Given the description of an element on the screen output the (x, y) to click on. 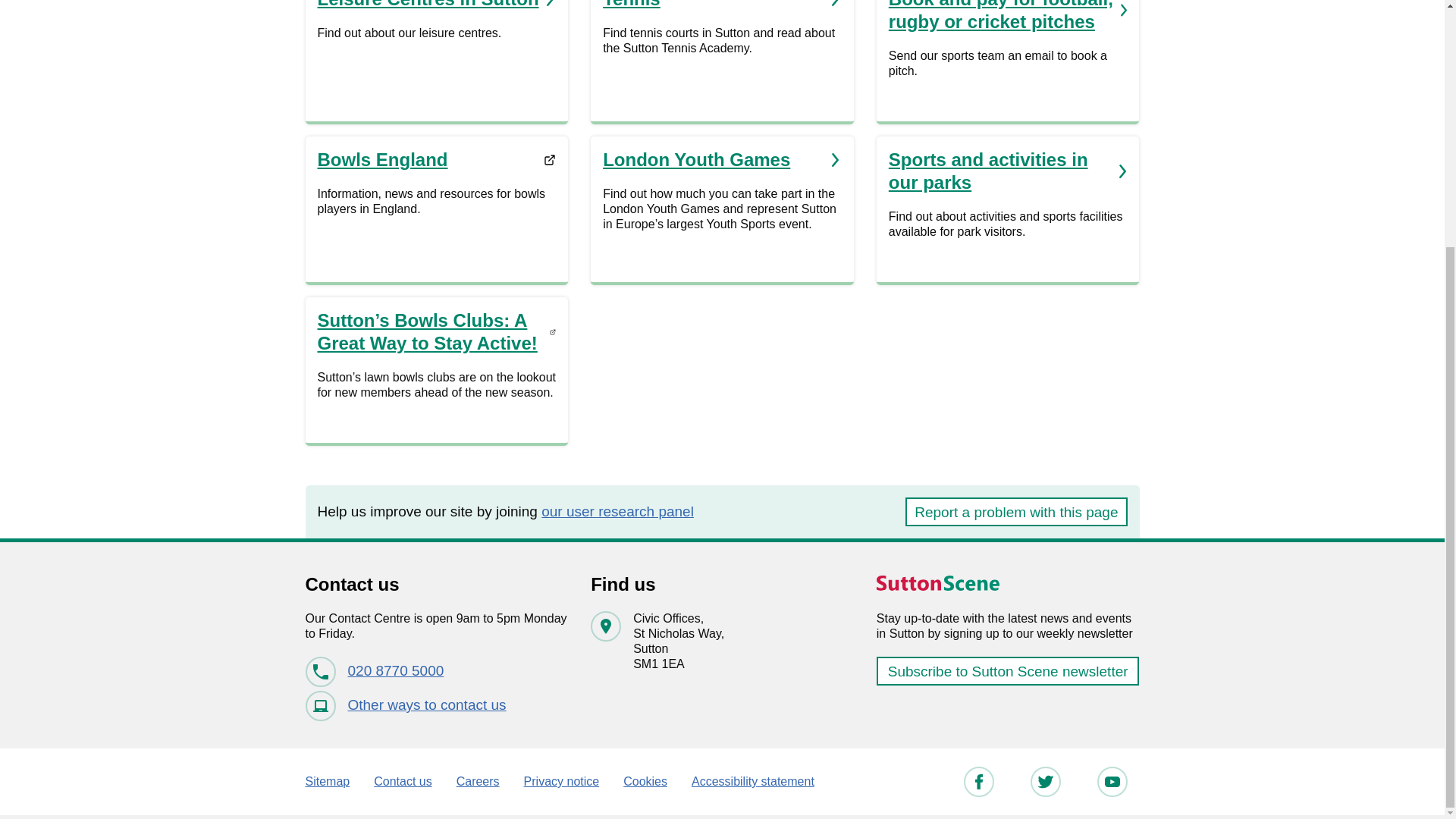
Location pin icon (605, 626)
London Youth Games (721, 159)
Facebook logo (978, 781)
Report a problem with this page (1015, 511)
Book and pay for football, rugby or cricket pitches (1007, 16)
Twitter logo (977, 781)
Sitemap (1044, 781)
